Given the description of an element on the screen output the (x, y) to click on. 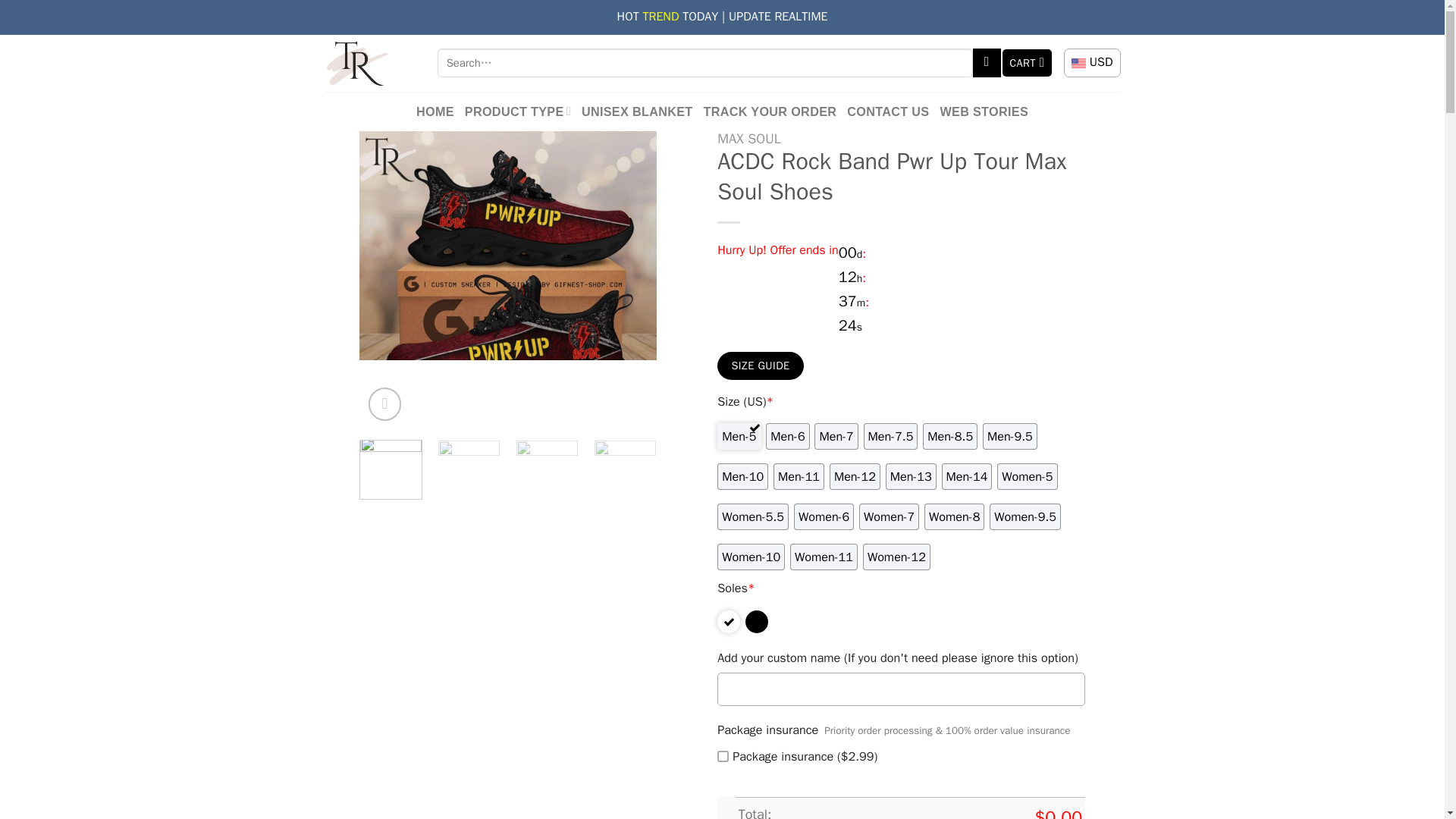
ACDC Rock Band Pwr Up Tour Max Soul Shoes (508, 280)
CONTACT US (887, 111)
ACDC Rock Band Pwr Up Tour Max Soul Shoes (1103, 280)
TRACK YOUR ORDER (770, 111)
Zoom (384, 403)
Search (986, 62)
MAX SOUL (748, 138)
UNISEX BLANKET (636, 111)
WEB STORIES (983, 111)
Torunstyle - New Design Added Daily (369, 63)
Cart (1027, 62)
PRODUCT TYPE (517, 111)
SIZE GUIDE (760, 366)
Men-5 (738, 436)
HOME (435, 111)
